Given the description of an element on the screen output the (x, y) to click on. 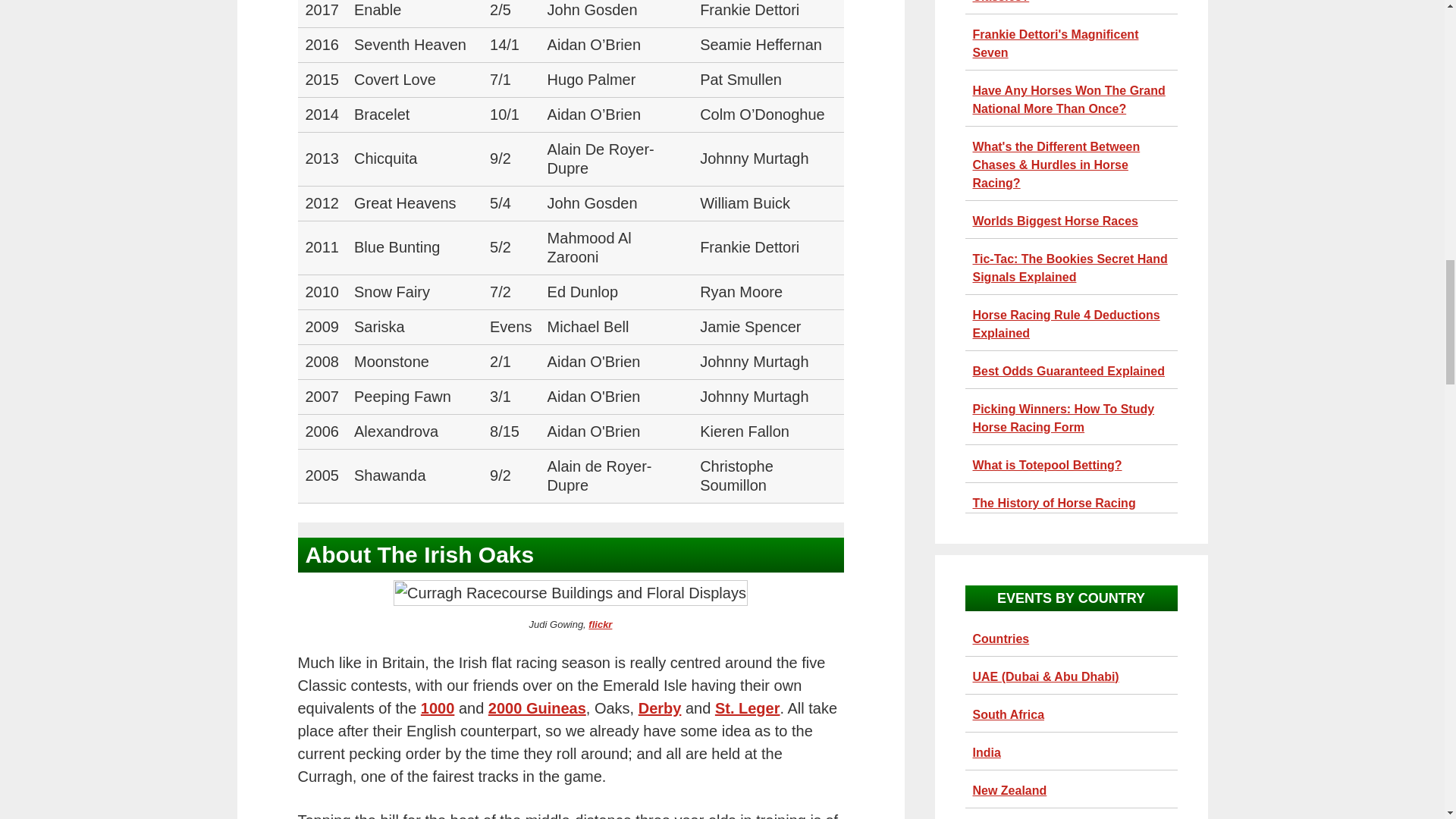
flickr (599, 624)
Derby (660, 708)
1000 (437, 708)
2000 Guineas (536, 708)
